Given the description of an element on the screen output the (x, y) to click on. 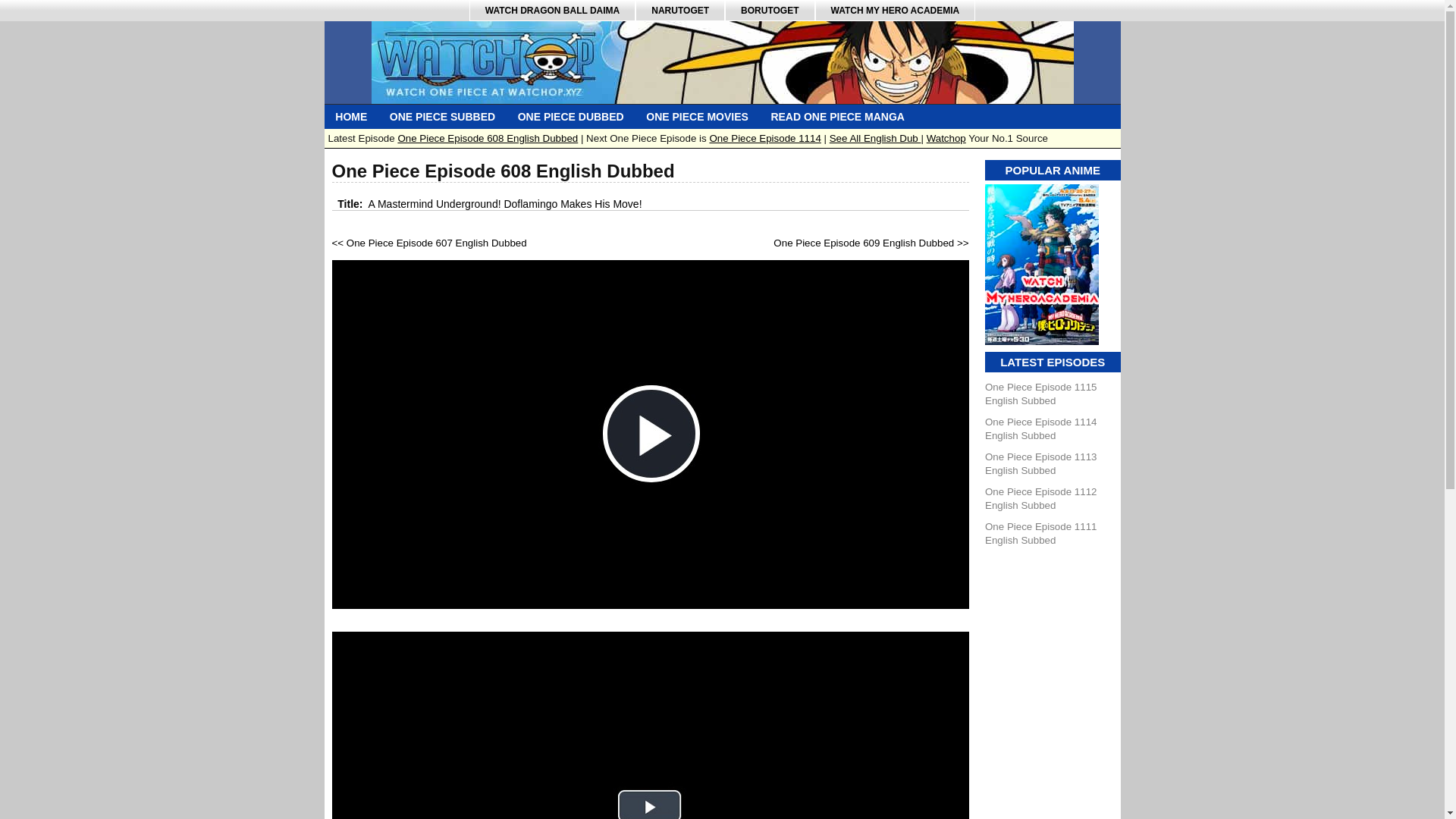
One Piece Episode 1114 English Subbed (1040, 428)
WATCH MY HERO ACADEMIA (895, 10)
One Piece Episode 608 English Dubbed (487, 138)
ONE PIECE SUBBED (442, 116)
One Piece English Dubbed (570, 116)
Manga (837, 116)
One Piece Episode 609 English Dubbed (863, 242)
BORUTOGET (769, 10)
One Piece Episode 1114 (765, 138)
WATCH DRAGON BALL DAIMA (552, 10)
